Given the description of an element on the screen output the (x, y) to click on. 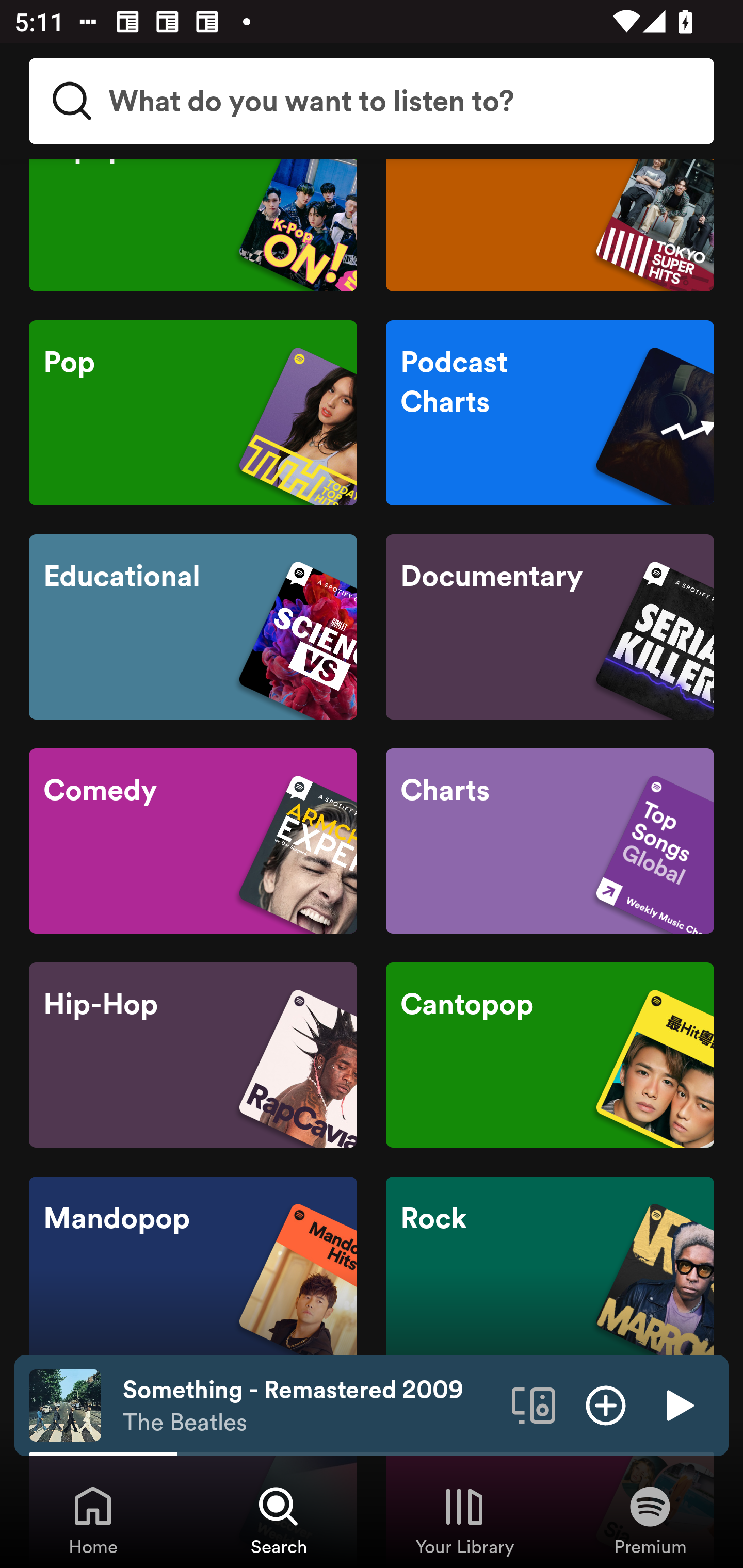
K-pop (192, 224)
J-Tracks (549, 224)
Pop (192, 411)
Podcast Charts (549, 411)
Educational (192, 626)
Documentary (549, 626)
Comedy (192, 839)
Charts (549, 839)
Hip-Hop (192, 1054)
Cantopop (549, 1054)
Mandopop (192, 1268)
Rock (549, 1268)
Something - Remastered 2009 The Beatles (309, 1405)
The cover art of the currently playing track (64, 1404)
Connect to a device. Opens the devices menu (533, 1404)
Add item (605, 1404)
Play (677, 1404)
Home, Tab 1 of 4 Home Home (92, 1519)
Search, Tab 2 of 4 Search Search (278, 1519)
Your Library, Tab 3 of 4 Your Library Your Library (464, 1519)
Premium, Tab 4 of 4 Premium Premium (650, 1519)
